Given the description of an element on the screen output the (x, y) to click on. 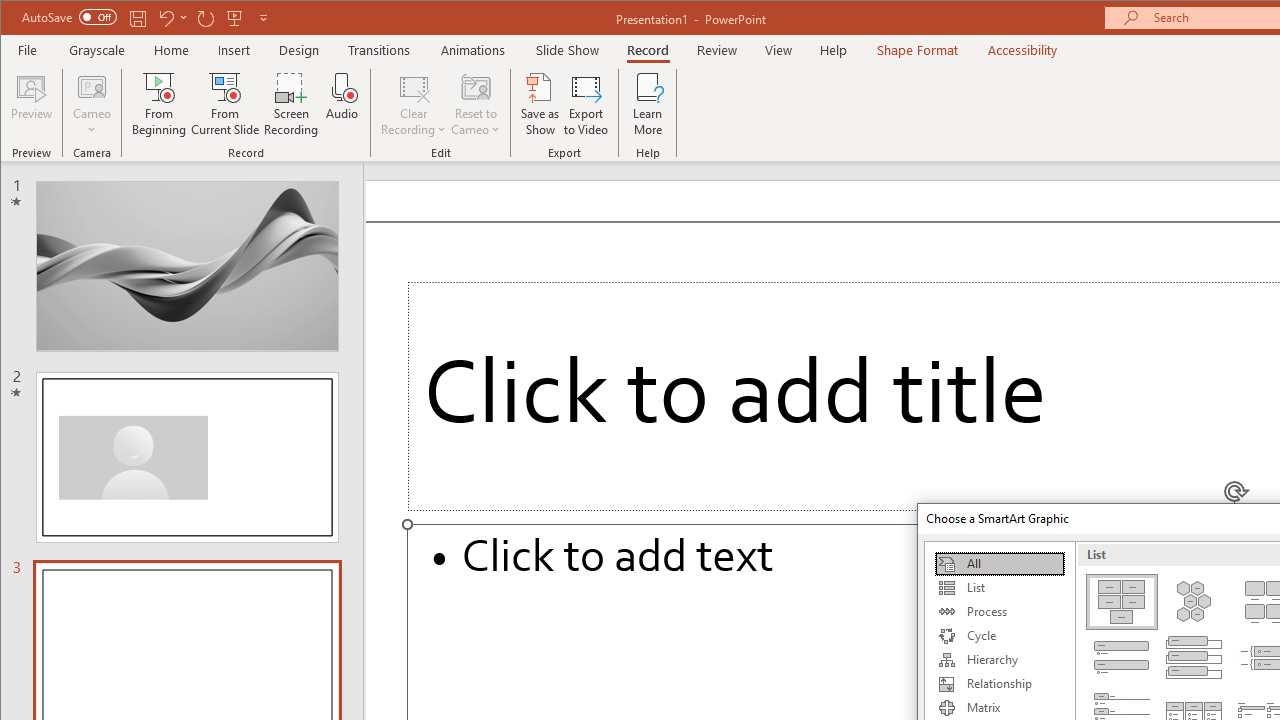
Clear Recording (413, 104)
Basic Block List (1121, 601)
Relationship (999, 683)
Learn More (648, 104)
Cycle (999, 636)
Hierarchy (999, 659)
Screen Recording (291, 104)
